Given the description of an element on the screen output the (x, y) to click on. 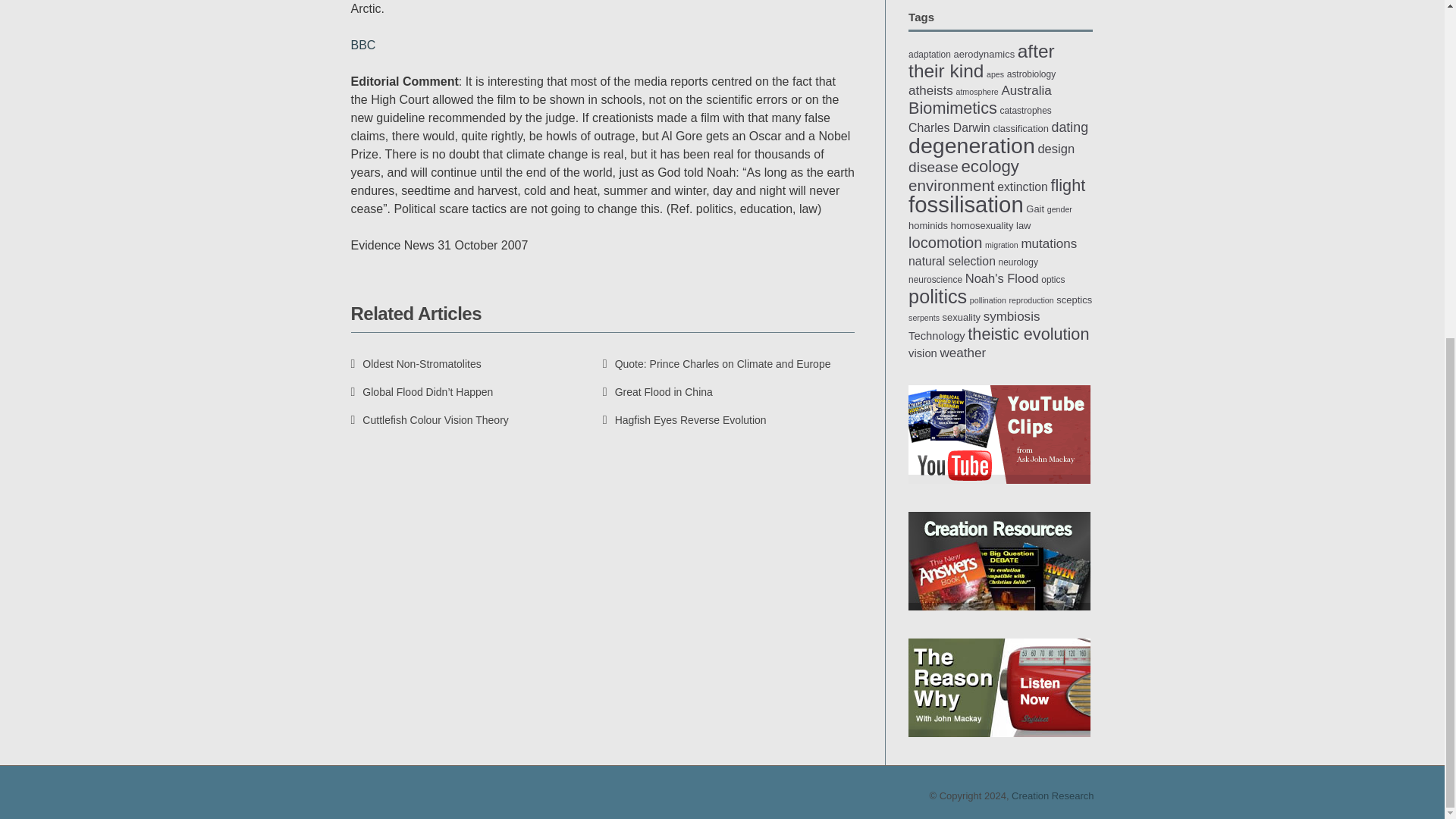
adaptation (929, 54)
Biomimetics (952, 107)
after their kind (981, 60)
Cuttlefish Colour Vision Theory (429, 419)
classification (1020, 128)
atheists (930, 90)
astrobiology (1031, 73)
BBC (362, 44)
aerodynamics (983, 53)
Great Flood in China (657, 391)
